Given the description of an element on the screen output the (x, y) to click on. 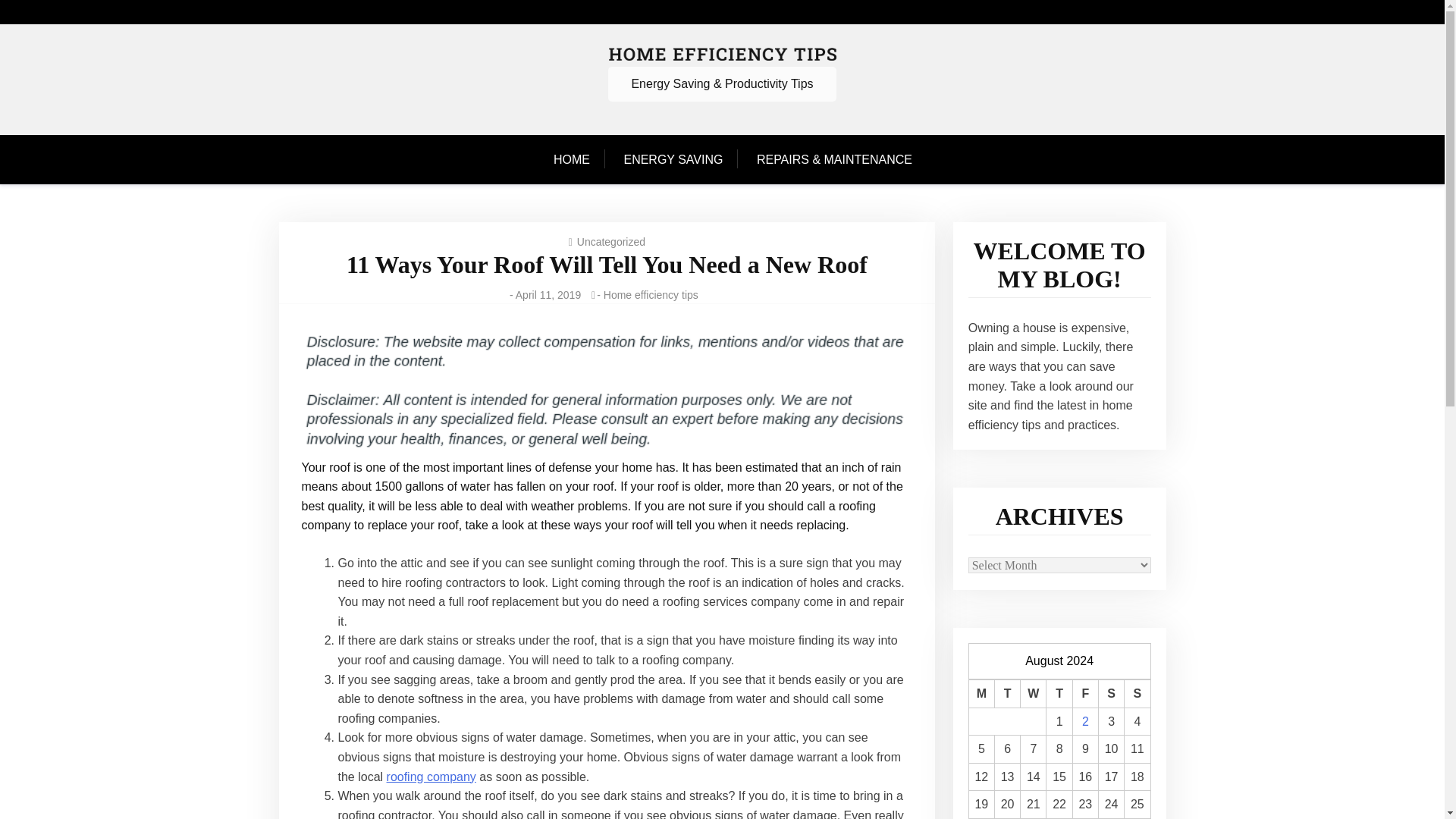
Wednesday (1033, 694)
Home efficiency tips (651, 295)
Uncategorized (610, 241)
Tuesday (1007, 694)
April 11, 2019 (547, 295)
Saturday (1110, 694)
Sunday (1137, 694)
Friday (1084, 694)
roofing company (431, 776)
Thursday (1058, 694)
Monday (981, 694)
ENERGY SAVING (673, 160)
HOME (579, 160)
